Given the description of an element on the screen output the (x, y) to click on. 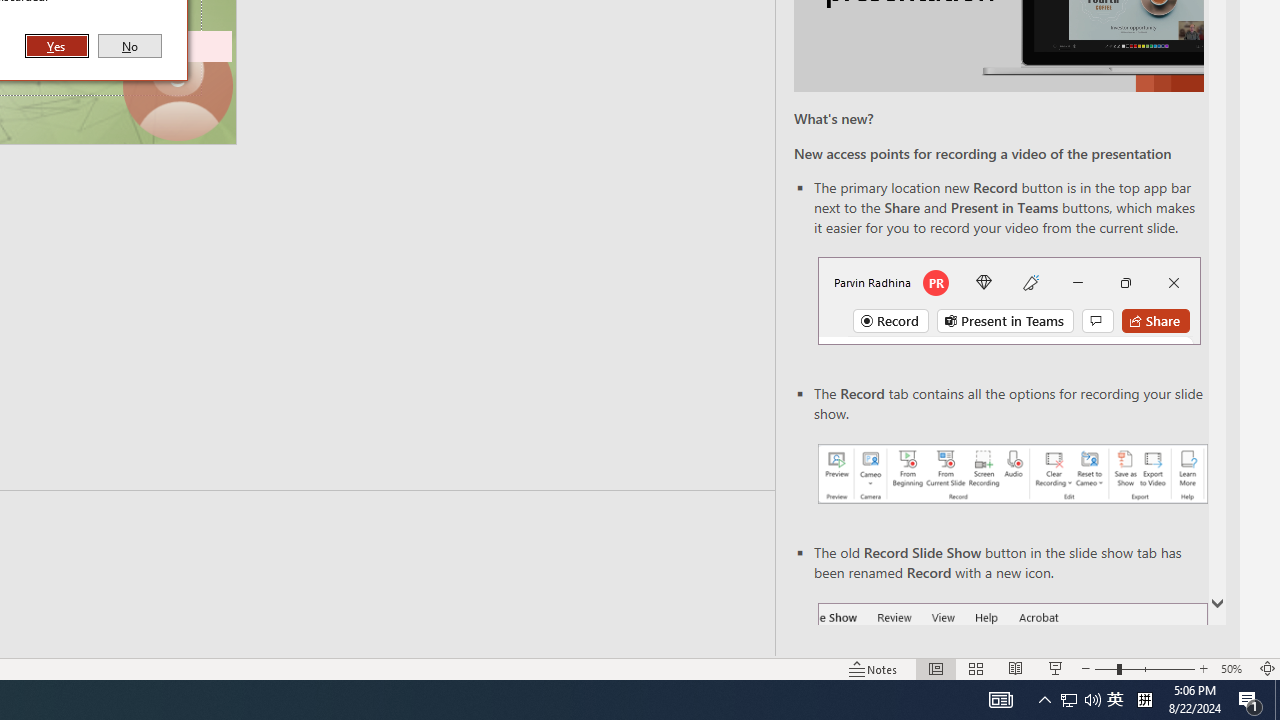
Action Center, 1 new notification (1250, 699)
No (130, 45)
